Given the description of an element on the screen output the (x, y) to click on. 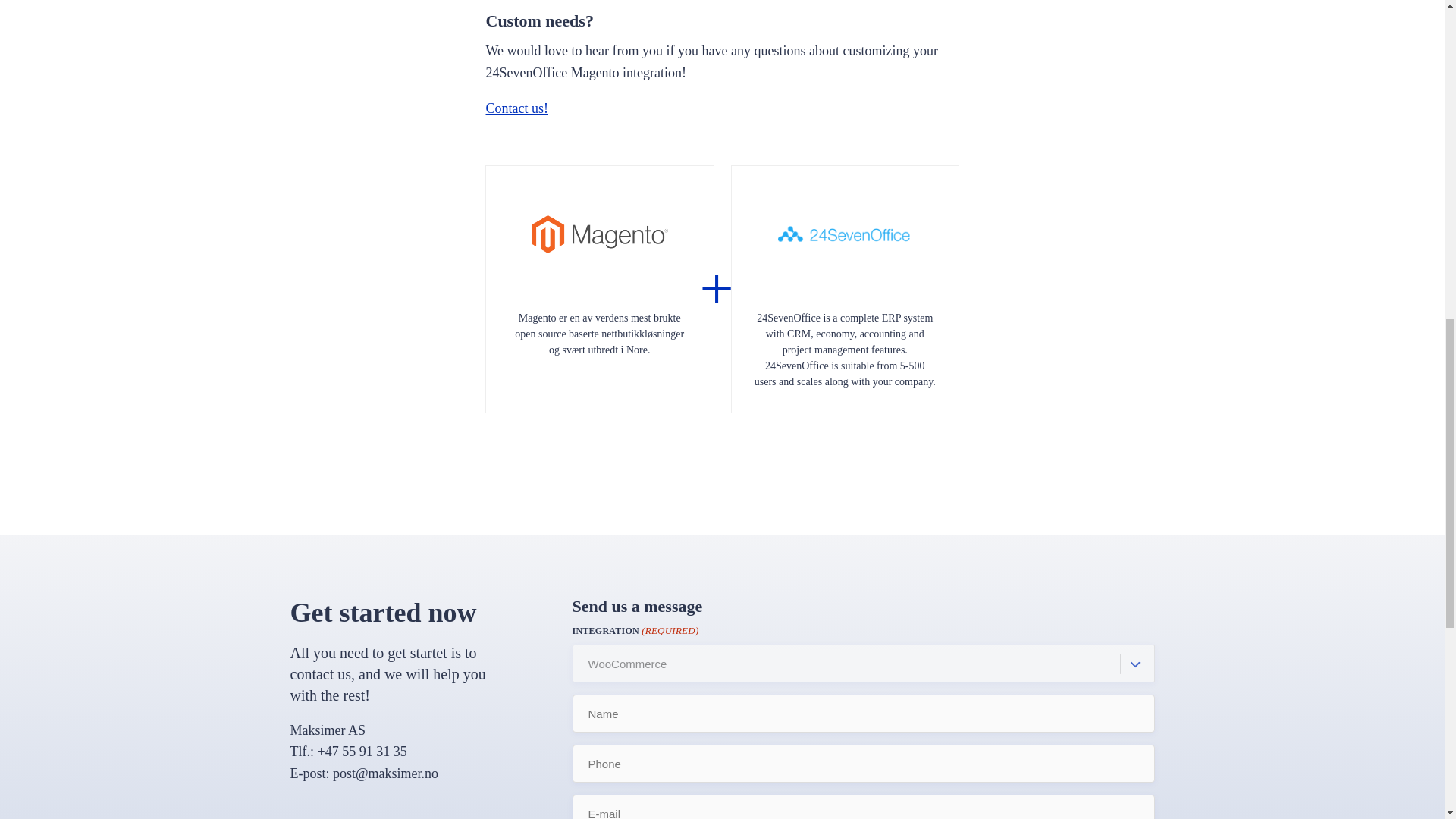
Contact us! (516, 108)
